Given the description of an element on the screen output the (x, y) to click on. 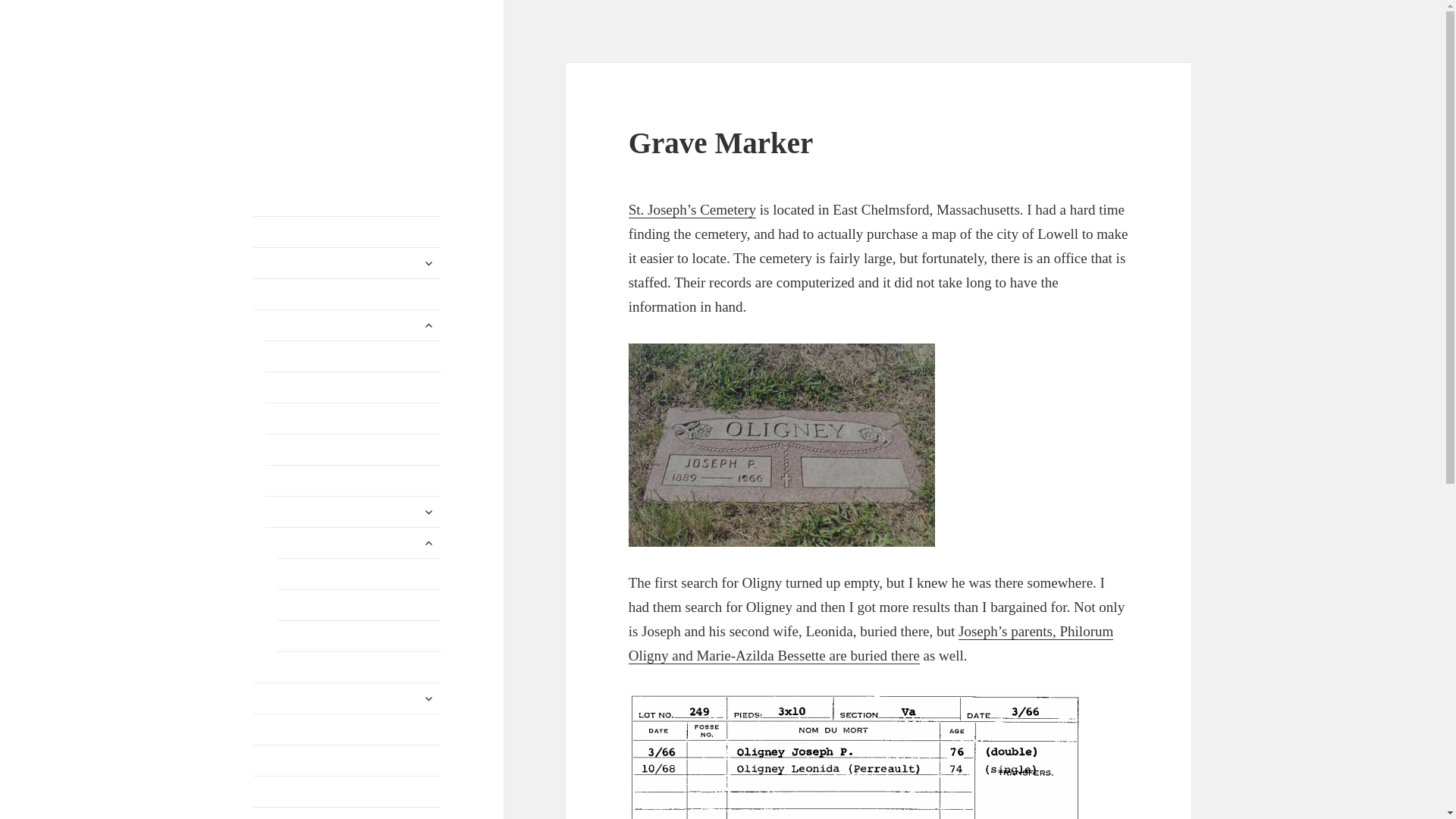
All my Genealogy Information (347, 729)
expand child menu (428, 324)
expand child menu (428, 262)
Oligny Ancestry (347, 325)
Saurette Ancestry (347, 263)
Saurette and Oligny Genealogy (340, 86)
Jean (352, 356)
My Saurette Ancestral Line (347, 232)
My Oligny Ancestral Line (347, 294)
Jean-Baptiste 1723-1810 (352, 387)
